Given the description of an element on the screen output the (x, y) to click on. 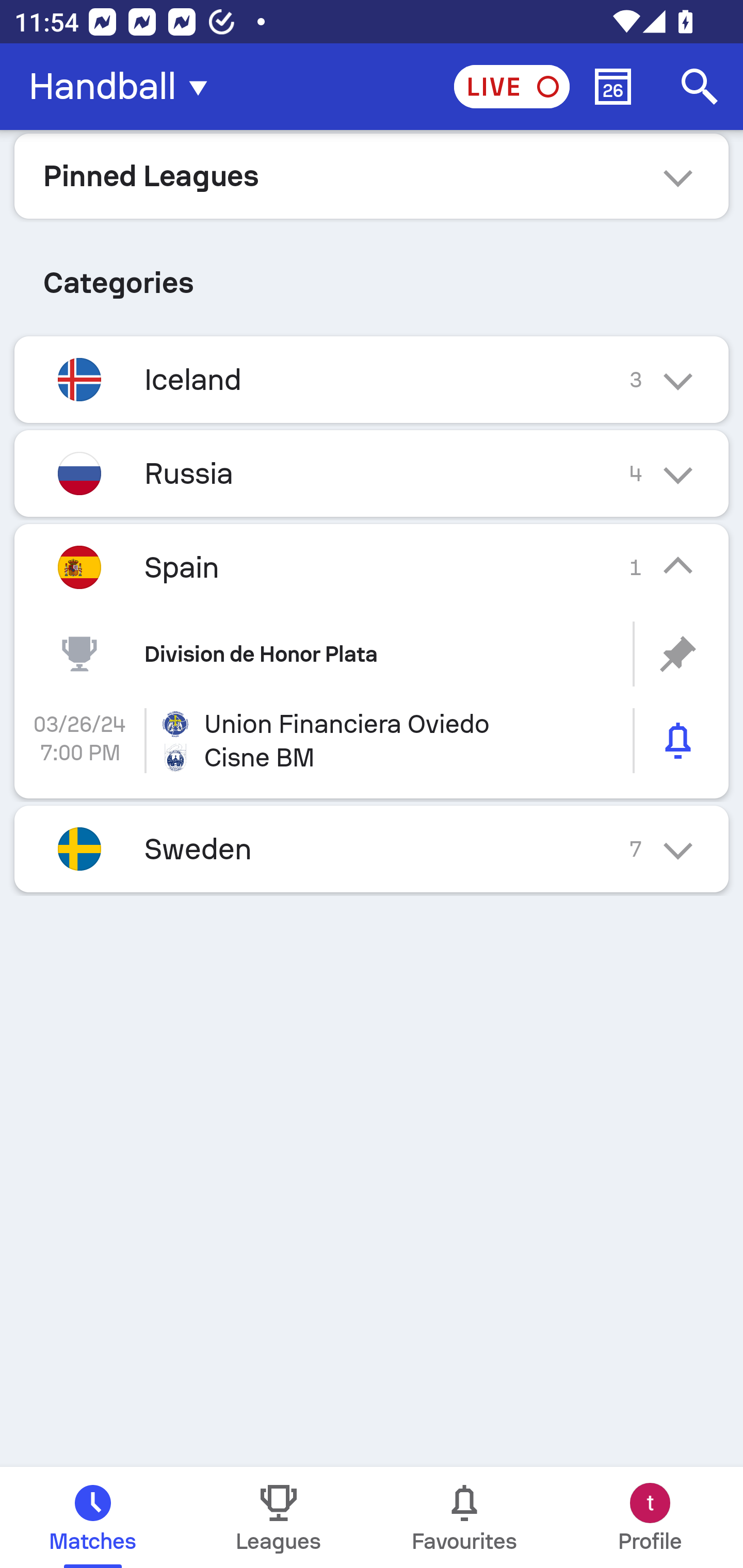
Handball (124, 86)
Calendar (612, 86)
Search (699, 86)
Pinned Leagues (371, 175)
Categories (371, 275)
Iceland 3 (371, 379)
Russia 4 (371, 473)
Spain 1 (371, 566)
Division de Honor Plata (371, 653)
03/26/24 7:00 PM Union Financiera Oviedo Cisne BM (371, 740)
Sweden 7 (371, 848)
Leagues (278, 1517)
Favourites (464, 1517)
Profile (650, 1517)
